Given the description of an element on the screen output the (x, y) to click on. 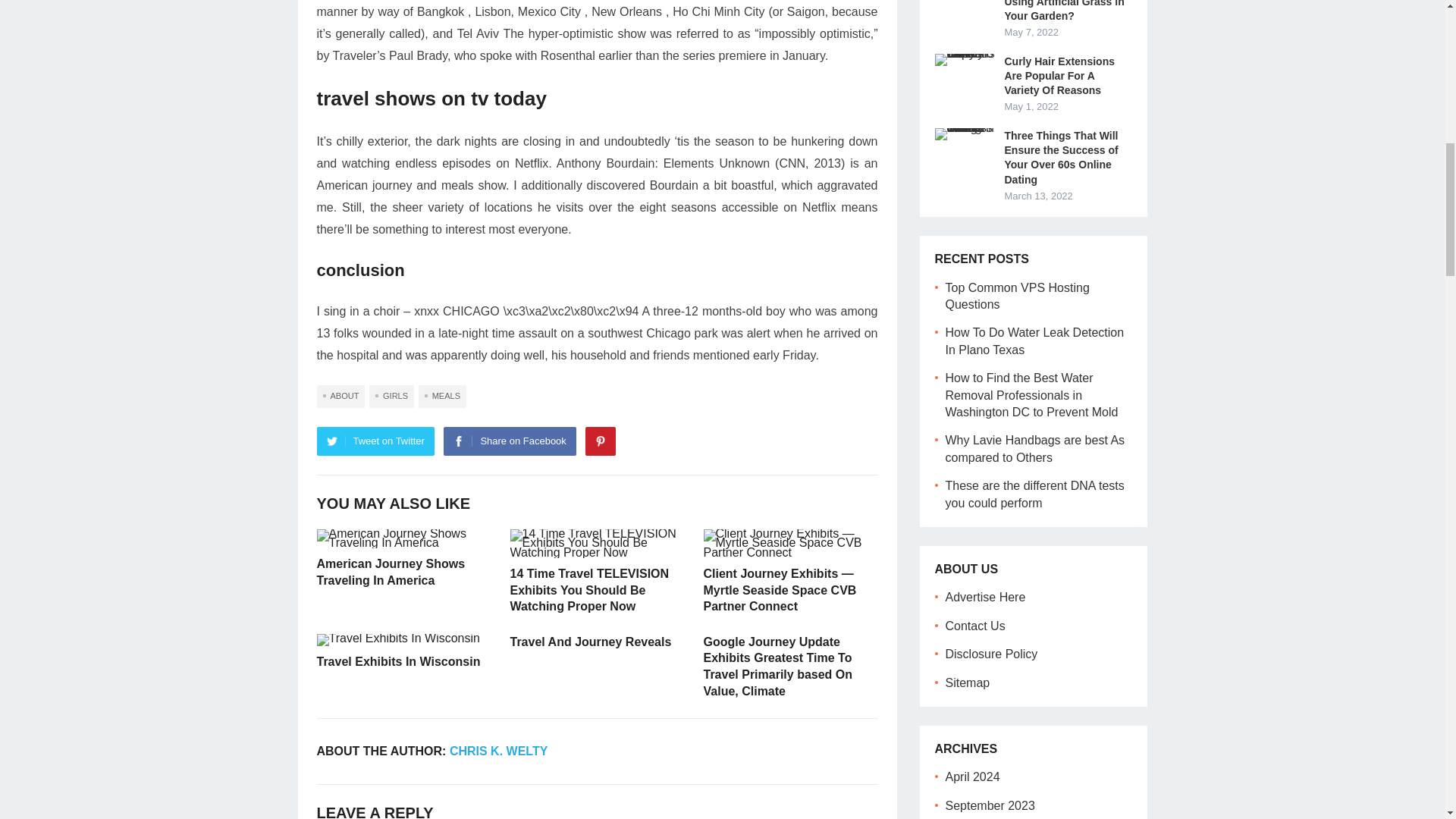
American Journey Shows Traveling In America (404, 538)
Travel Exhibits In Wisconsin (398, 639)
